Given the description of an element on the screen output the (x, y) to click on. 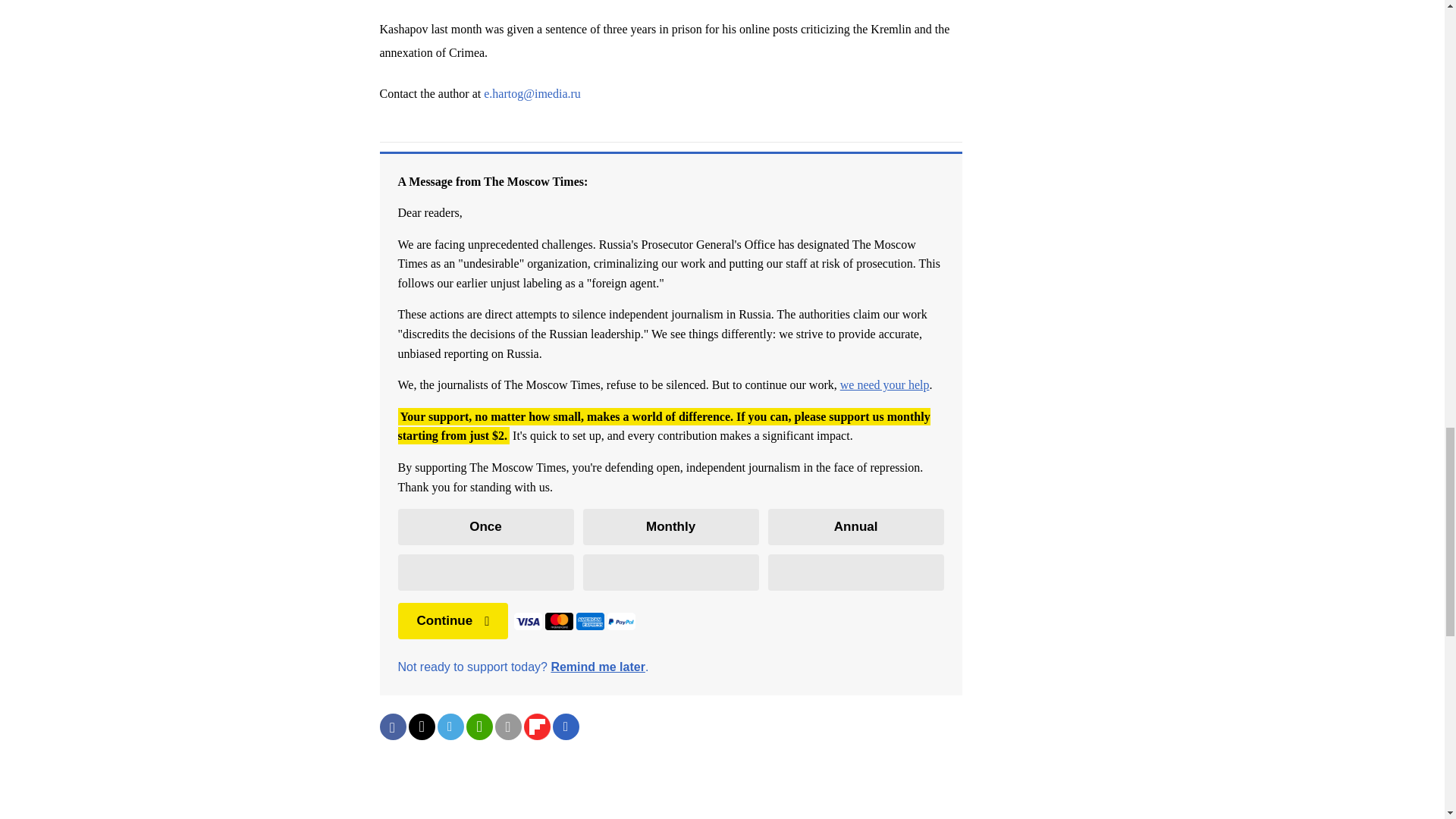
Share on Twitter (420, 726)
we need your help (885, 384)
Share on Facebook (392, 726)
Share on Flipboard (536, 726)
Share on Telegram (449, 726)
